Given the description of an element on the screen output the (x, y) to click on. 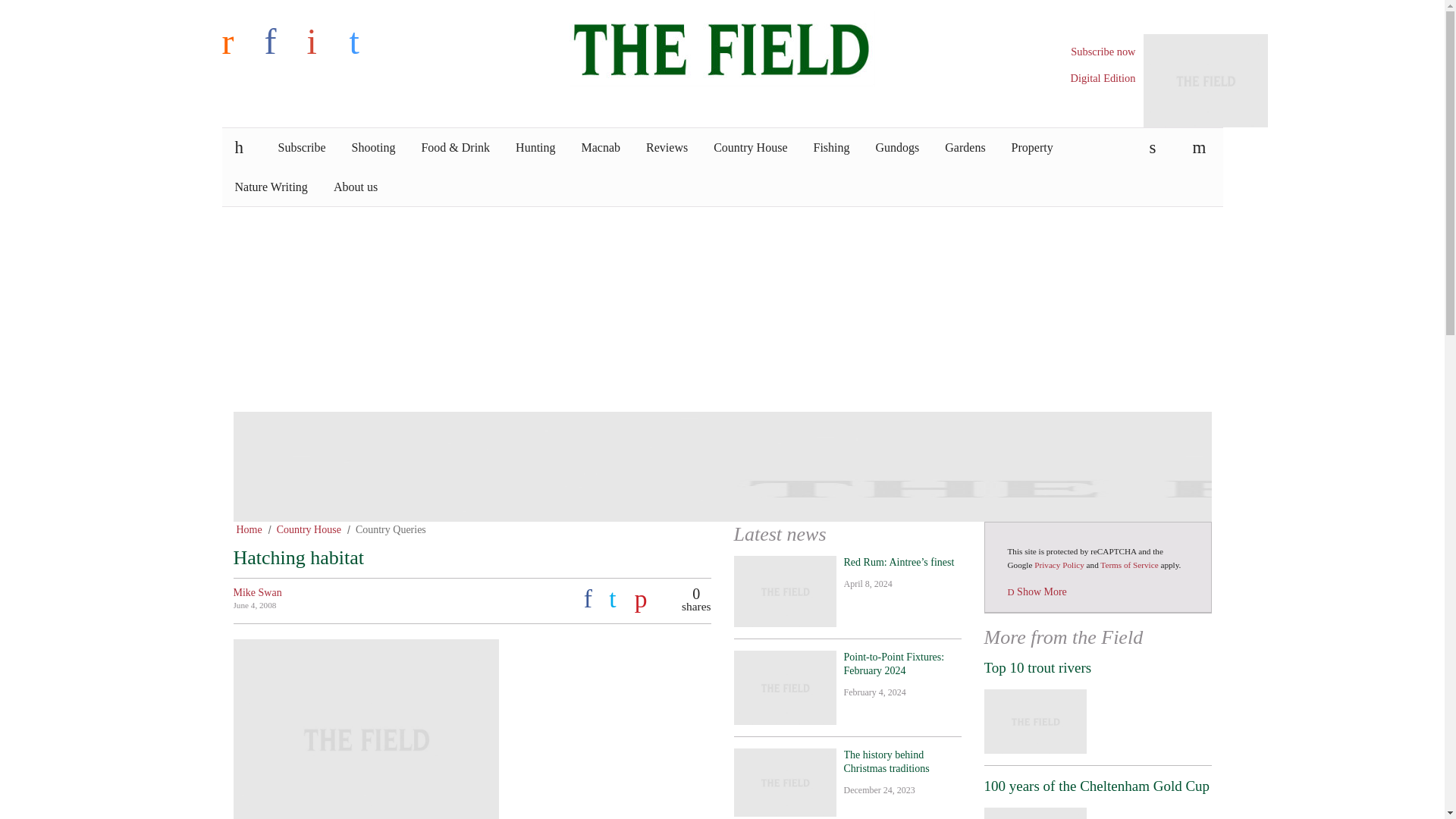
Gundogs (898, 147)
Digital Edition (1102, 78)
Reviews (666, 147)
The Field (722, 47)
Digital Edition (1102, 78)
Country House (749, 147)
Mike Swan's Profile (257, 592)
Subscribe now (1102, 51)
Hunting (534, 147)
The Field (722, 47)
Subscribe (301, 147)
r (239, 41)
Macnab (601, 147)
Fishing (831, 147)
Subscribe now (1102, 51)
